Given the description of an element on the screen output the (x, y) to click on. 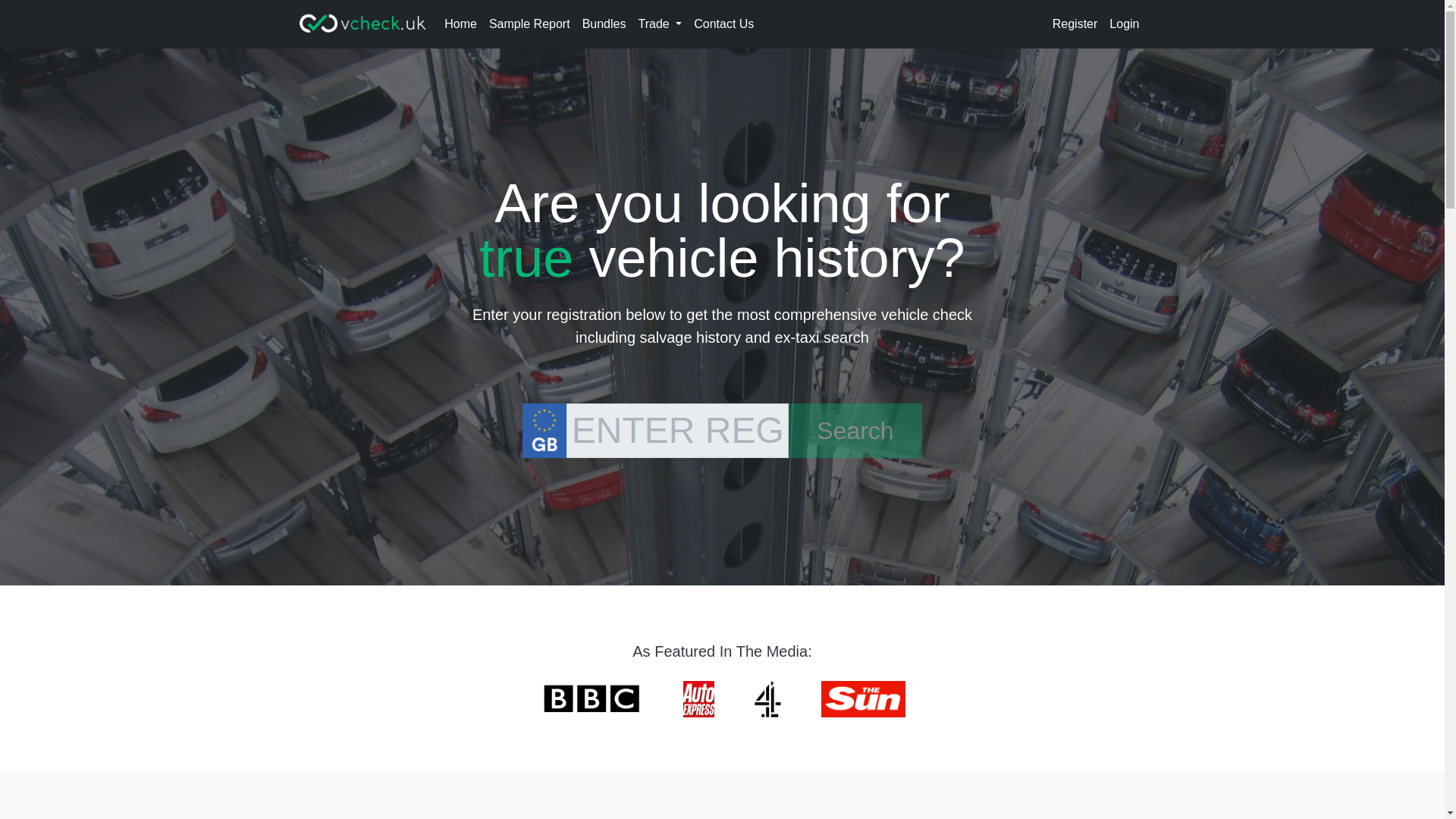
Home (460, 24)
Trade (659, 24)
Register (1074, 24)
Contact Us (723, 24)
Bundles (603, 24)
Search (855, 430)
Login (1123, 24)
Sample Report (529, 24)
